Given the description of an element on the screen output the (x, y) to click on. 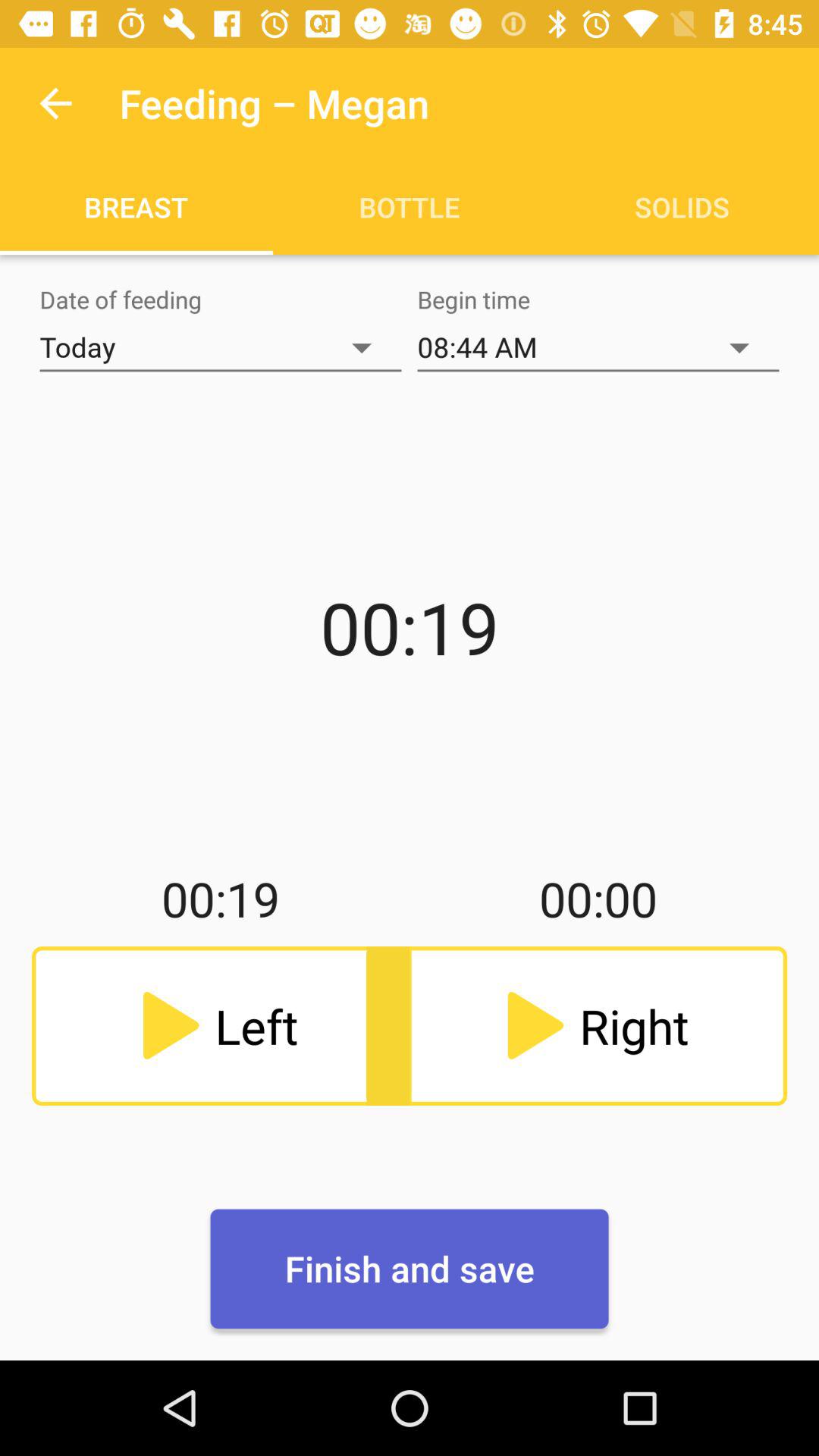
click item next to the today item (598, 347)
